Given the description of an element on the screen output the (x, y) to click on. 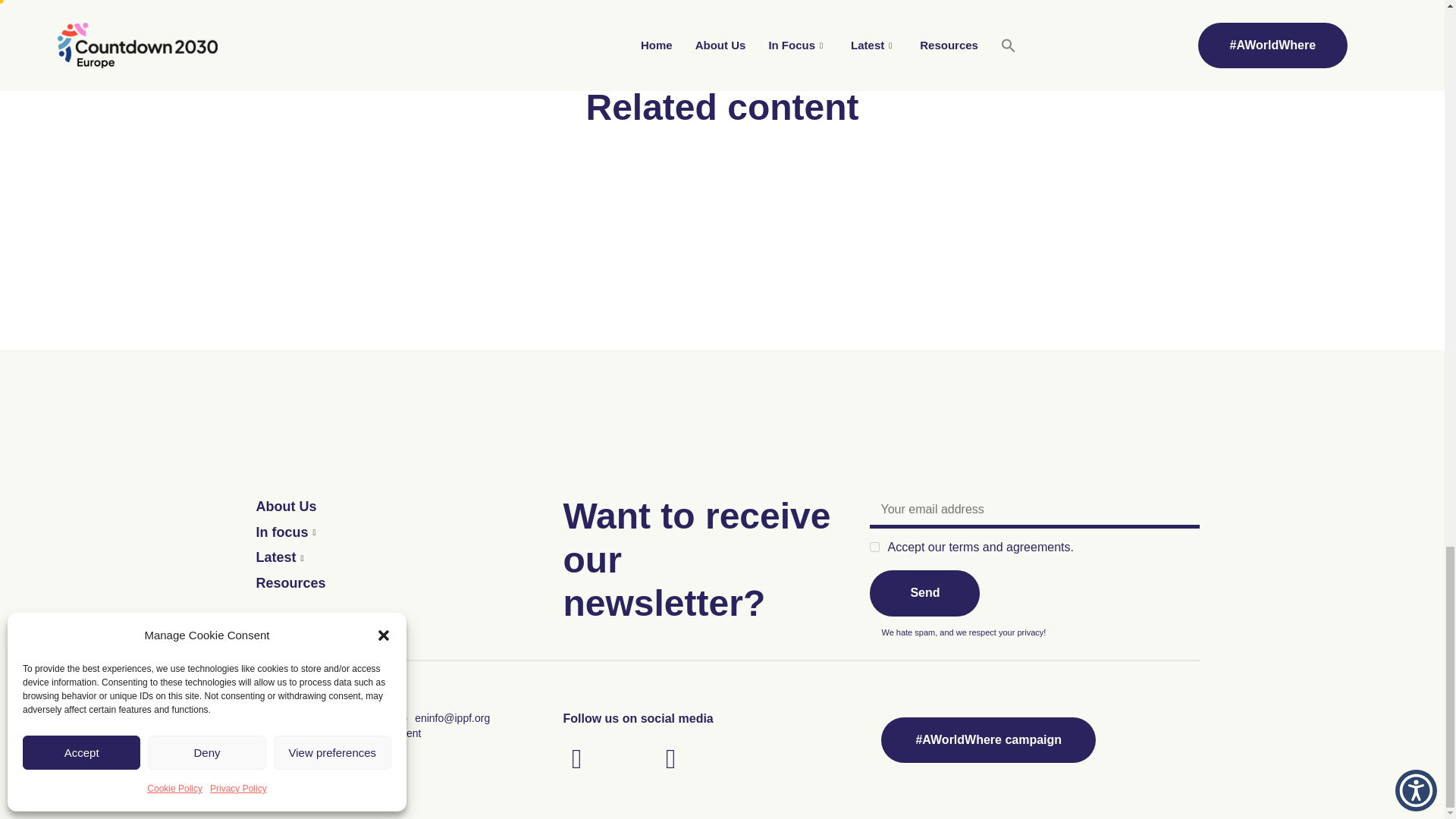
on (874, 547)
